Given the description of an element on the screen output the (x, y) to click on. 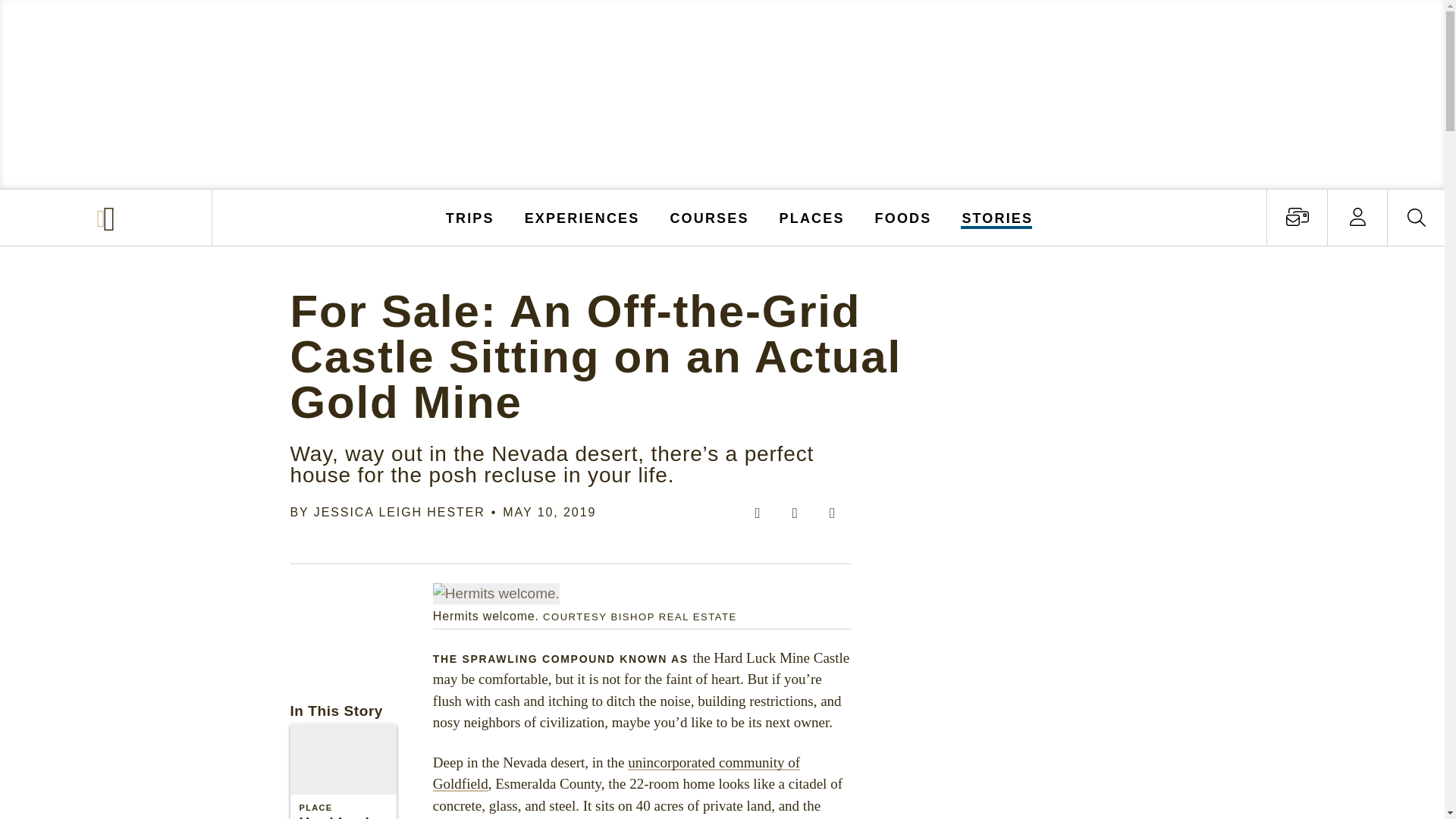
EXPERIENCES (582, 217)
PLACES (812, 217)
COURSES (707, 217)
TRIPS (469, 217)
